Given the description of an element on the screen output the (x, y) to click on. 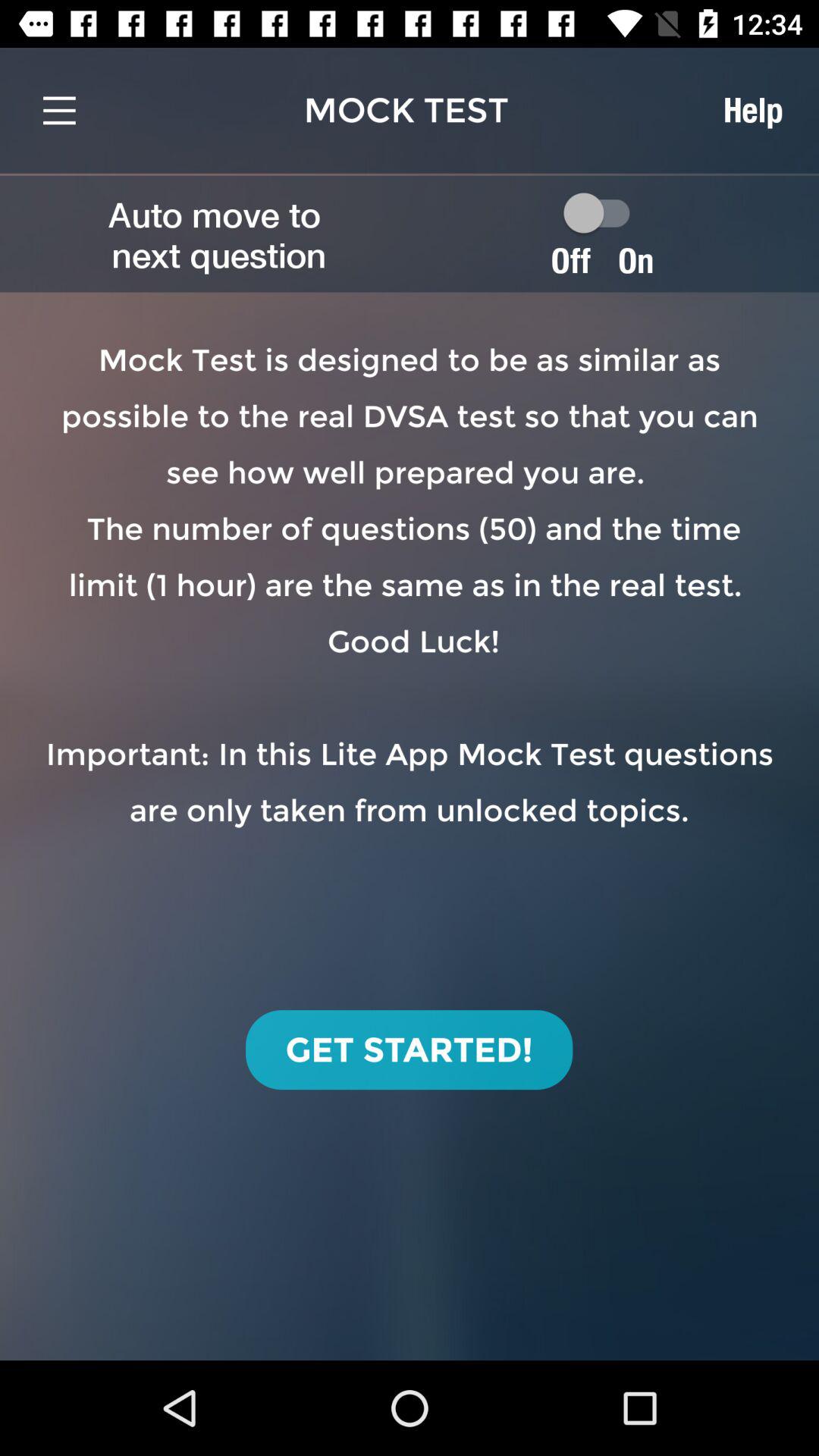
choose item to the right of mock test item (752, 110)
